Given the description of an element on the screen output the (x, y) to click on. 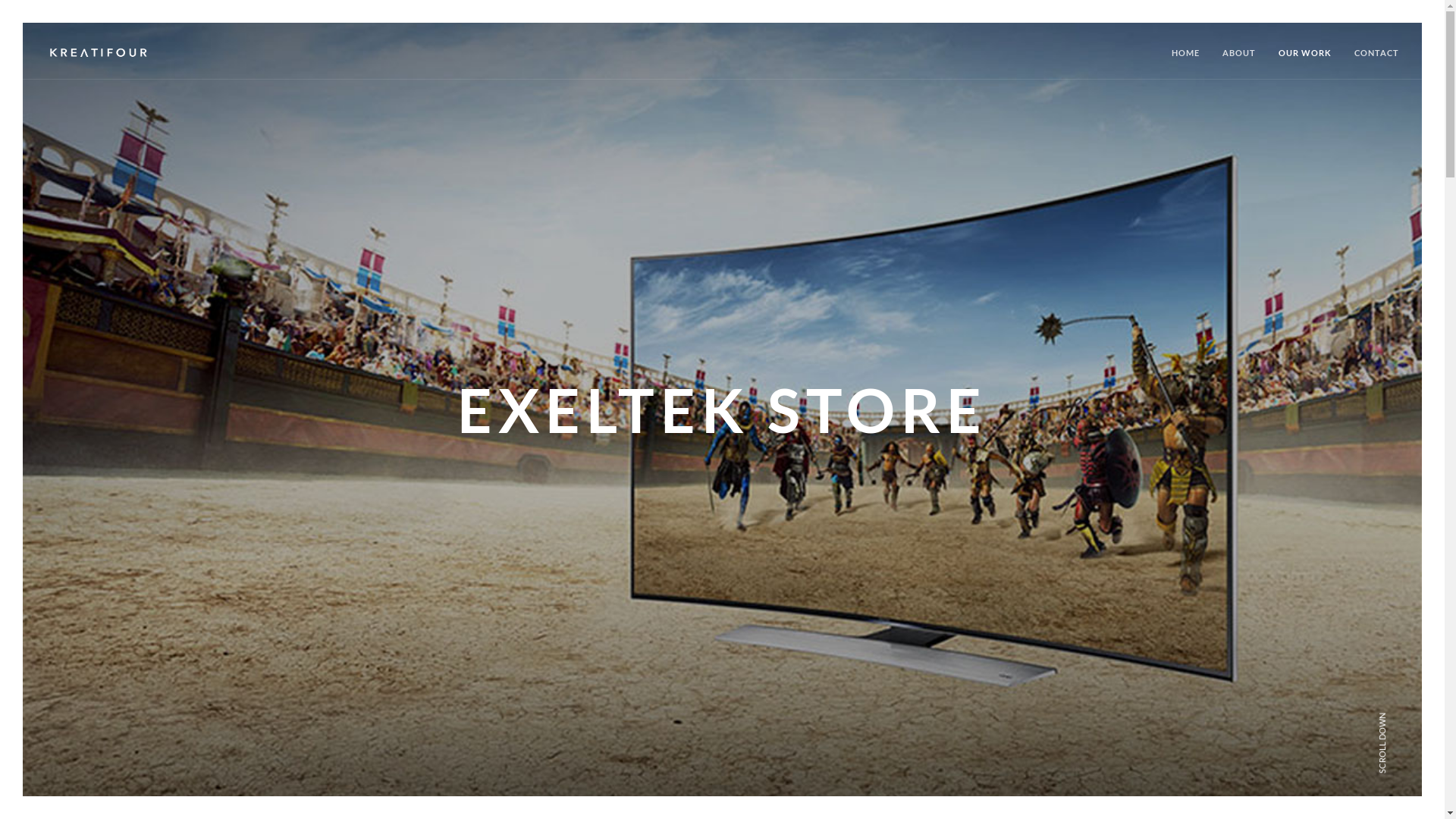
ABOUT Element type: text (1238, 61)
SCROLL DOWN Element type: text (1412, 712)
HOME Element type: text (1185, 61)
CONTACT Element type: text (1376, 61)
OUR WORK Element type: text (1304, 61)
